Given the description of an element on the screen output the (x, y) to click on. 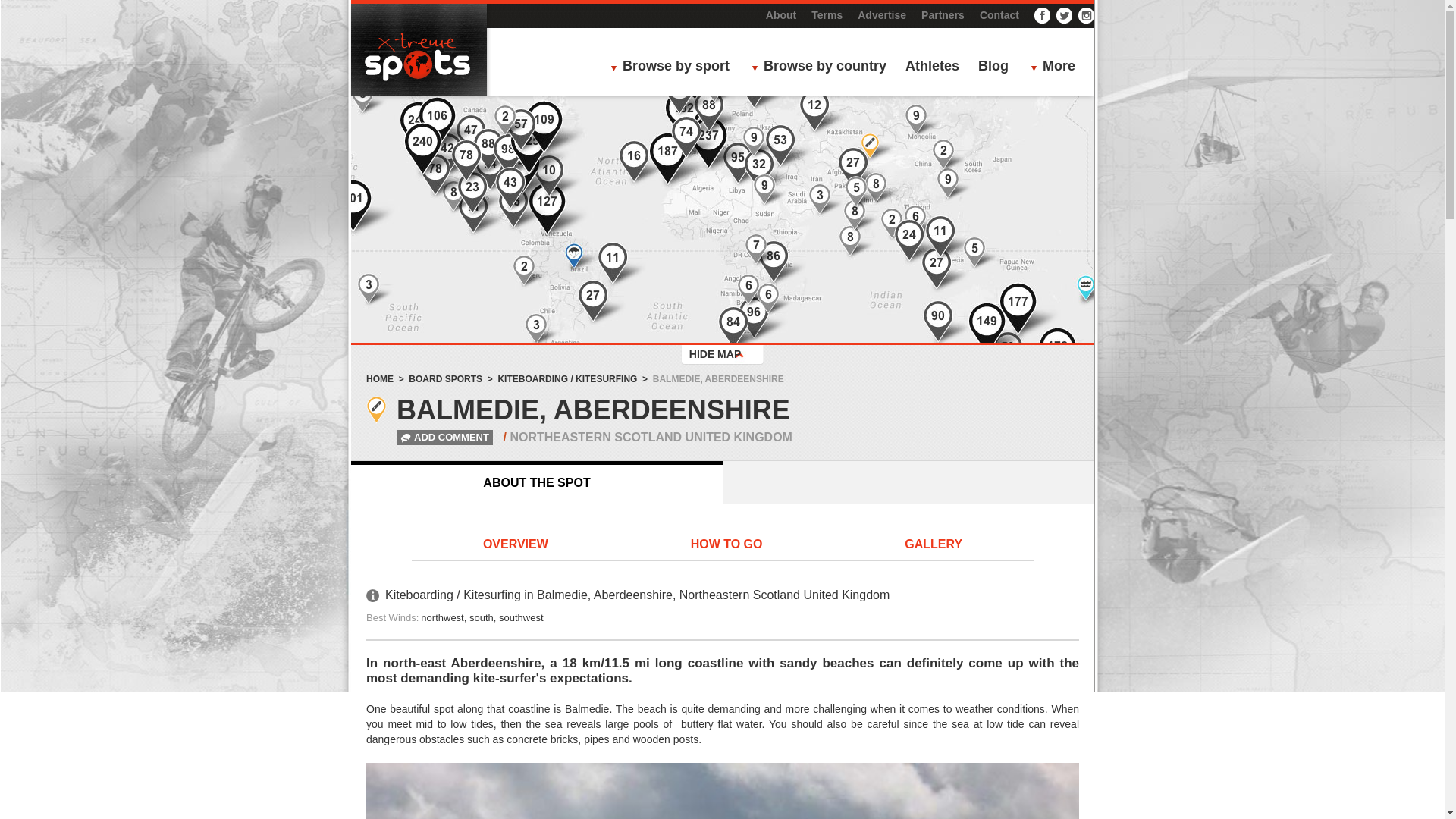
Browse by country (823, 67)
BOARD SPORTS (445, 378)
About (780, 15)
Browse by sport (674, 67)
ADD COMMENT (431, 437)
Kitesurfers at Balmedie (722, 790)
Partners (942, 15)
Blog (993, 67)
Terms (826, 15)
HOW TO GO (727, 545)
